Given the description of an element on the screen output the (x, y) to click on. 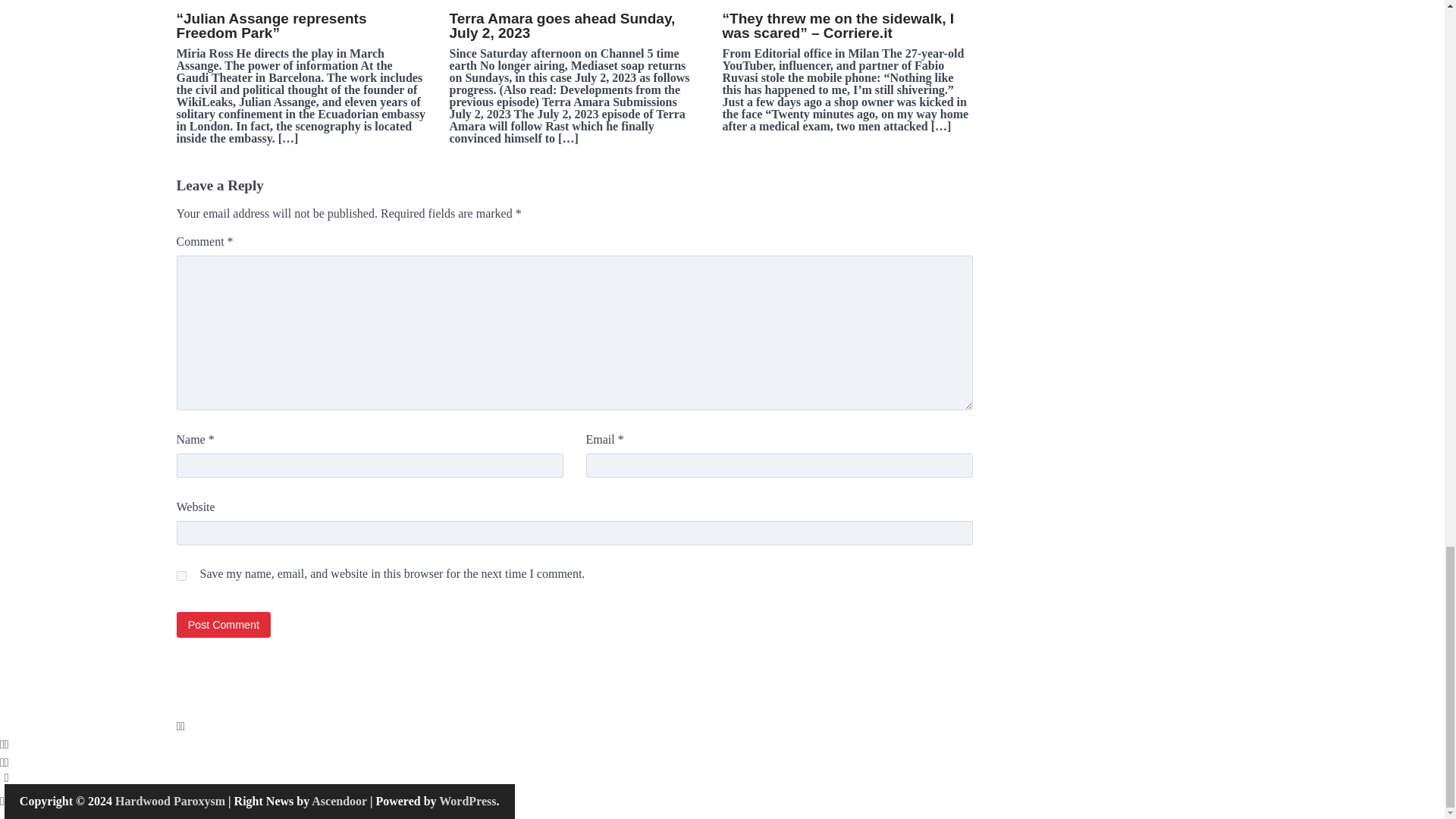
Post Comment (223, 624)
yes (181, 575)
Post Comment (223, 624)
Terra Amara goes ahead Sunday, July 2, 2023 (573, 25)
